Given the description of an element on the screen output the (x, y) to click on. 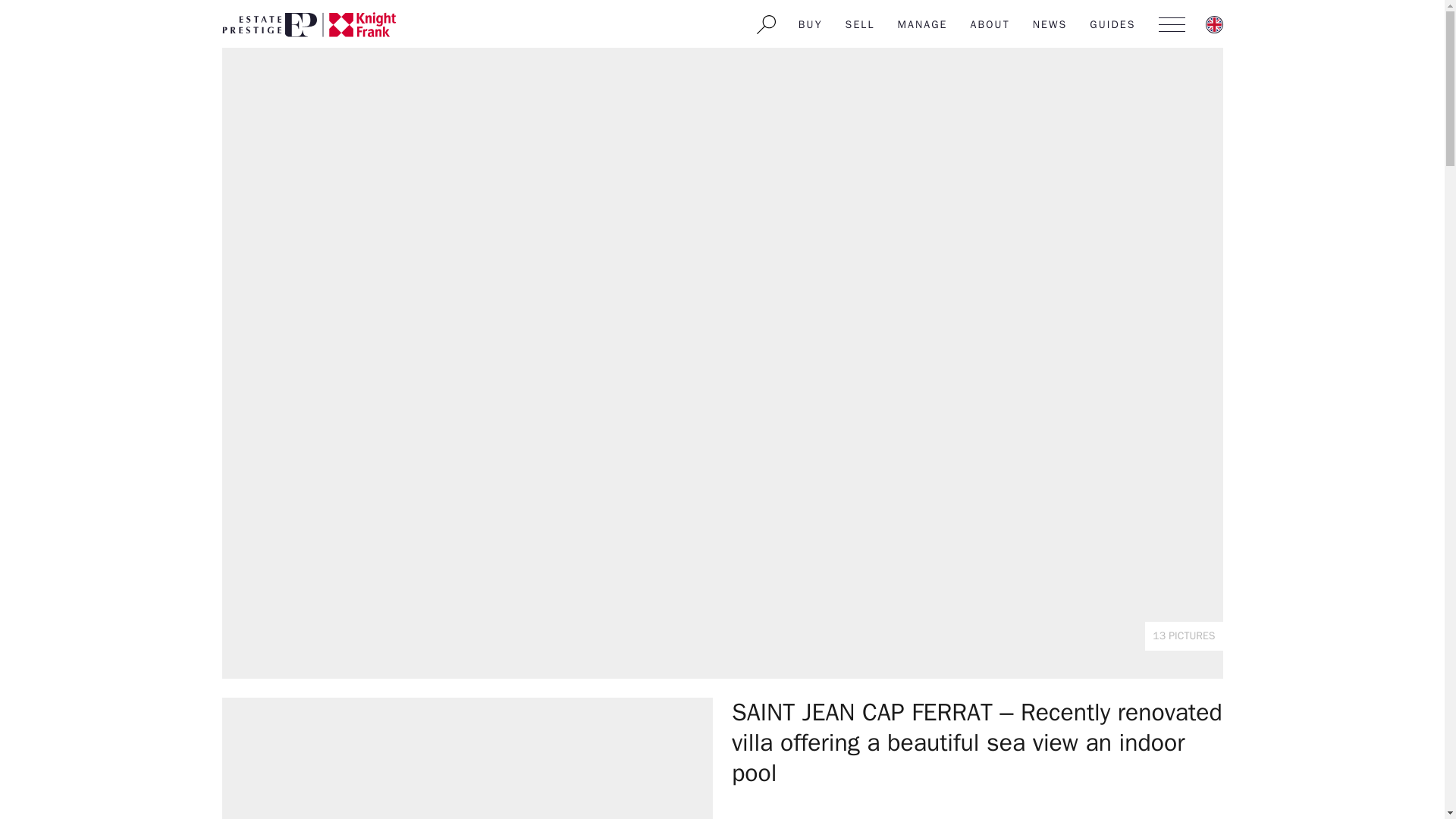
NEWS (1050, 24)
ABOUT (990, 24)
SELL (860, 24)
BUY (810, 24)
MANAGE (922, 24)
GUIDES (1112, 24)
